Given the description of an element on the screen output the (x, y) to click on. 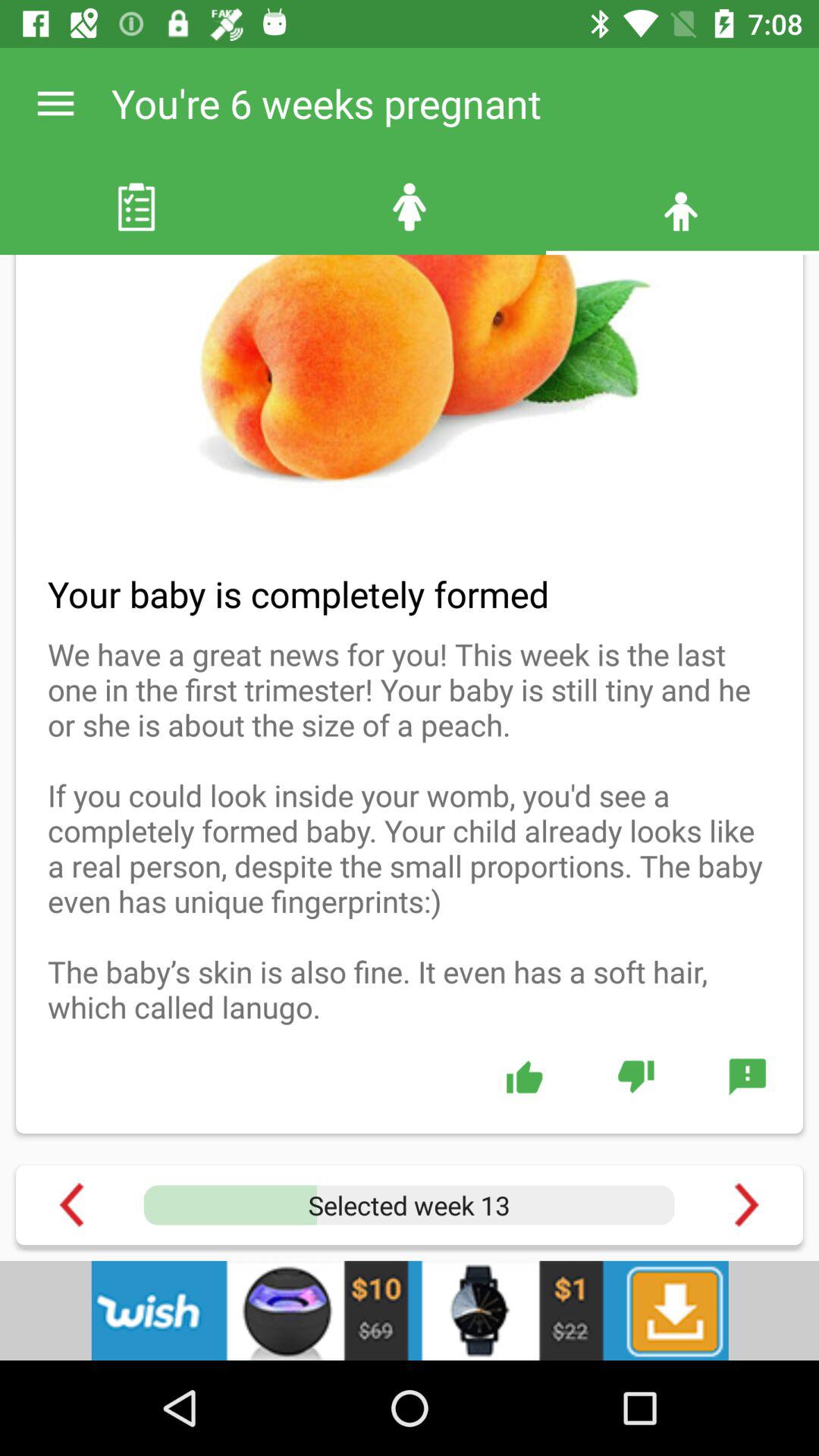
menu paga (746, 1204)
